Given the description of an element on the screen output the (x, y) to click on. 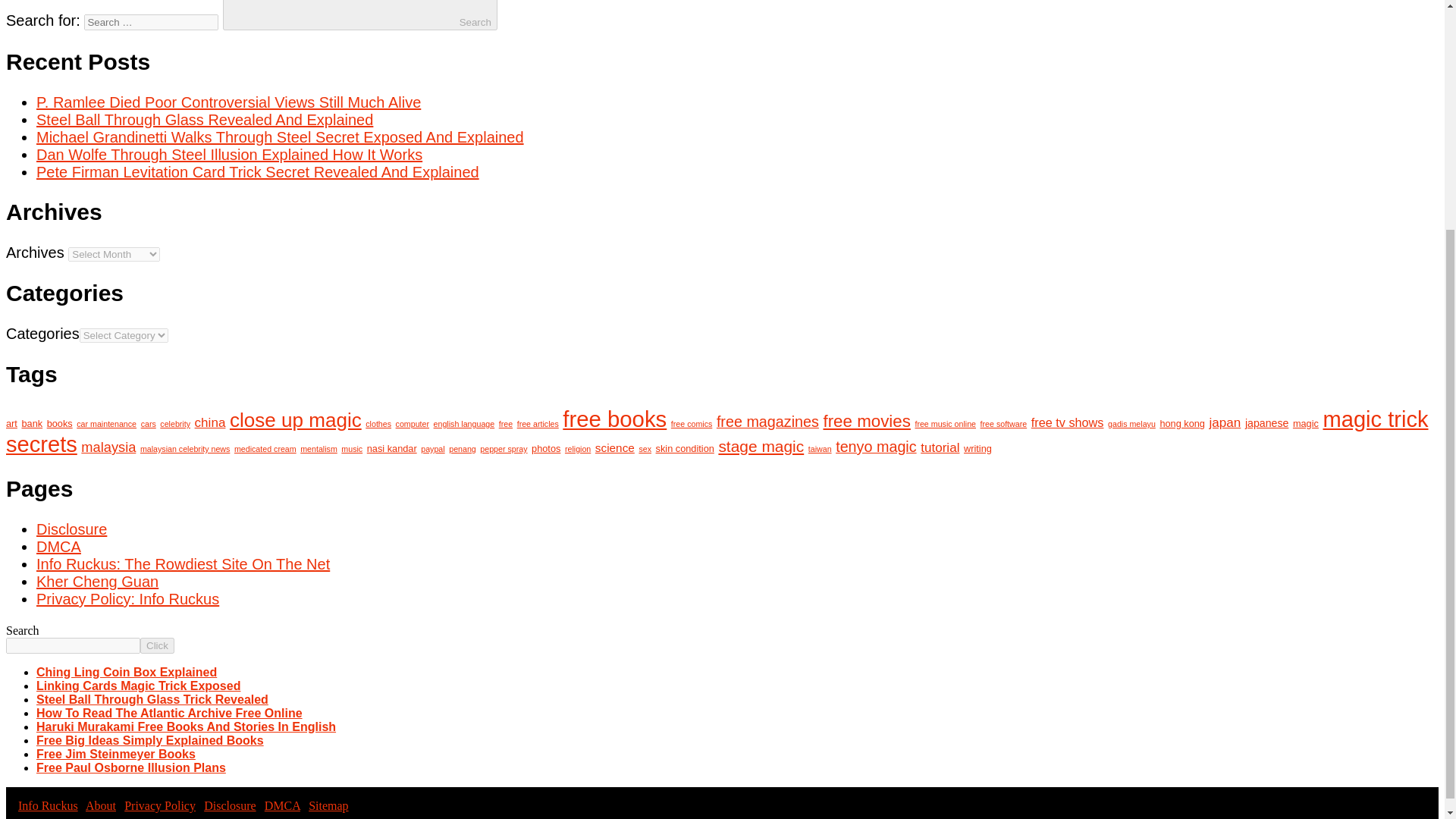
books (59, 423)
magic (1305, 423)
japanese (1266, 422)
free books (614, 418)
celebrity (175, 423)
japan (1225, 422)
malaysia (108, 446)
free tv shows (1066, 422)
free magazines (767, 421)
